Given the description of an element on the screen output the (x, y) to click on. 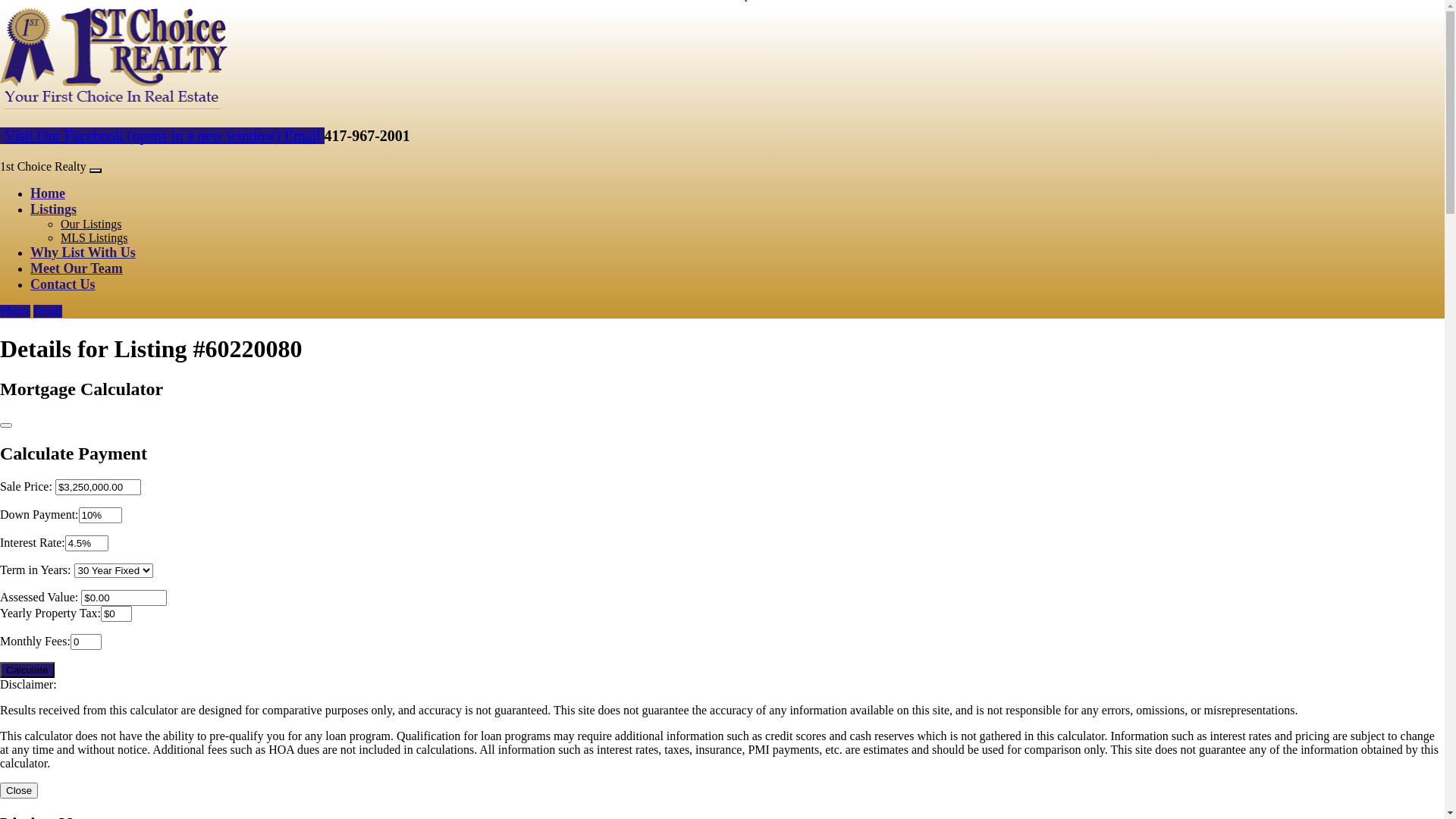
Calculate Element type: text (27, 669)
Listings Element type: text (53, 208)
Our Listings Element type: text (90, 223)
Home Element type: text (47, 192)
Visit Our Facebook (opens in a new window) Element type: text (142, 135)
Email Element type: text (304, 135)
Close Element type: text (18, 790)
Why List With Us Element type: text (82, 252)
Contact Us Element type: text (62, 283)
MLS Listings Element type: text (93, 237)
Meet Our Team Element type: text (76, 268)
Phone Element type: text (15, 310)
Email Element type: text (47, 310)
